Given the description of an element on the screen output the (x, y) to click on. 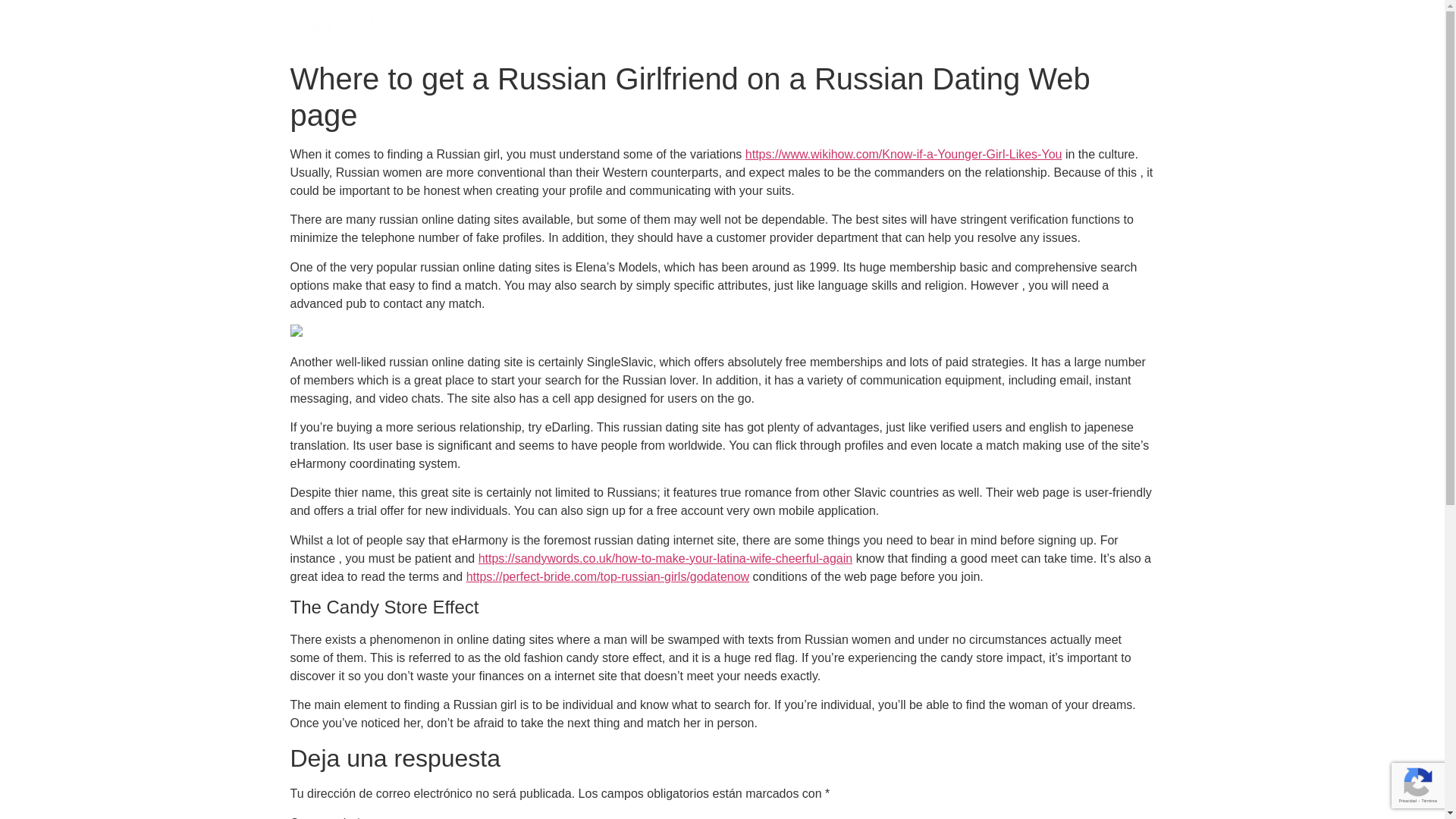
Contacto (972, 27)
Oportunidad Laboral (1079, 27)
Servicios (814, 27)
Empresas (722, 27)
Inicio (647, 27)
Nosotros (896, 27)
